Given the description of an element on the screen output the (x, y) to click on. 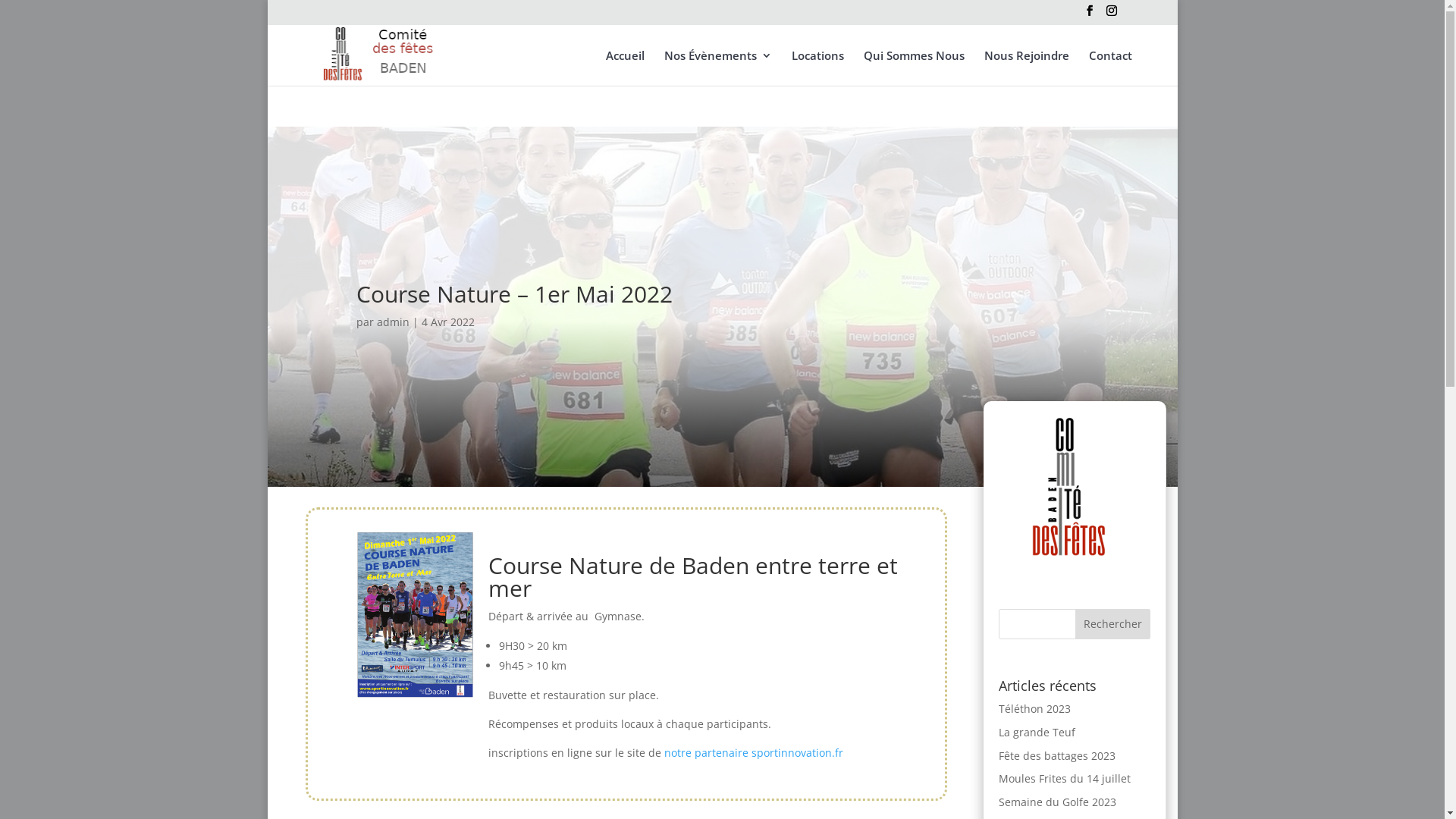
notre partenaire sportinnovation.fr Element type: text (753, 752)
Contact Element type: text (1110, 67)
Locations Element type: text (817, 67)
Nous Rejoindre Element type: text (1026, 67)
Course nature Baden 2022 Element type: hover (415, 694)
Semaine du Golfe 2023 Element type: text (1057, 801)
Qui Sommes Nous Element type: text (912, 67)
La grande Teuf Element type: text (1036, 731)
Course nature Baden 2022 Element type: hover (415, 613)
Moules Frites du 14 juillet Element type: text (1064, 778)
admin Element type: text (392, 320)
Rechercher Element type: text (1112, 623)
Accueil Element type: text (624, 67)
